Given the description of an element on the screen output the (x, y) to click on. 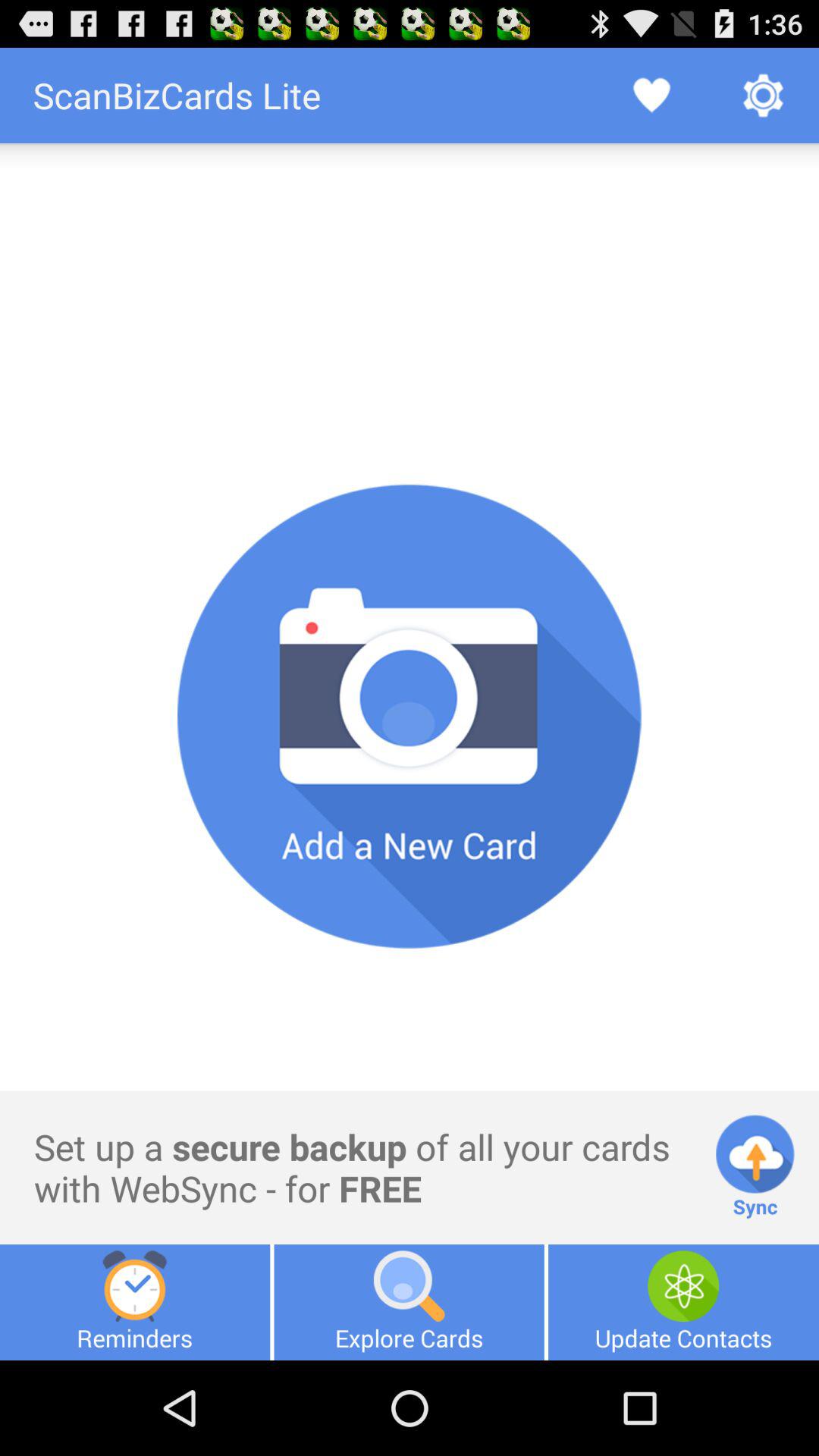
press the item next to update contacts (409, 1302)
